Given the description of an element on the screen output the (x, y) to click on. 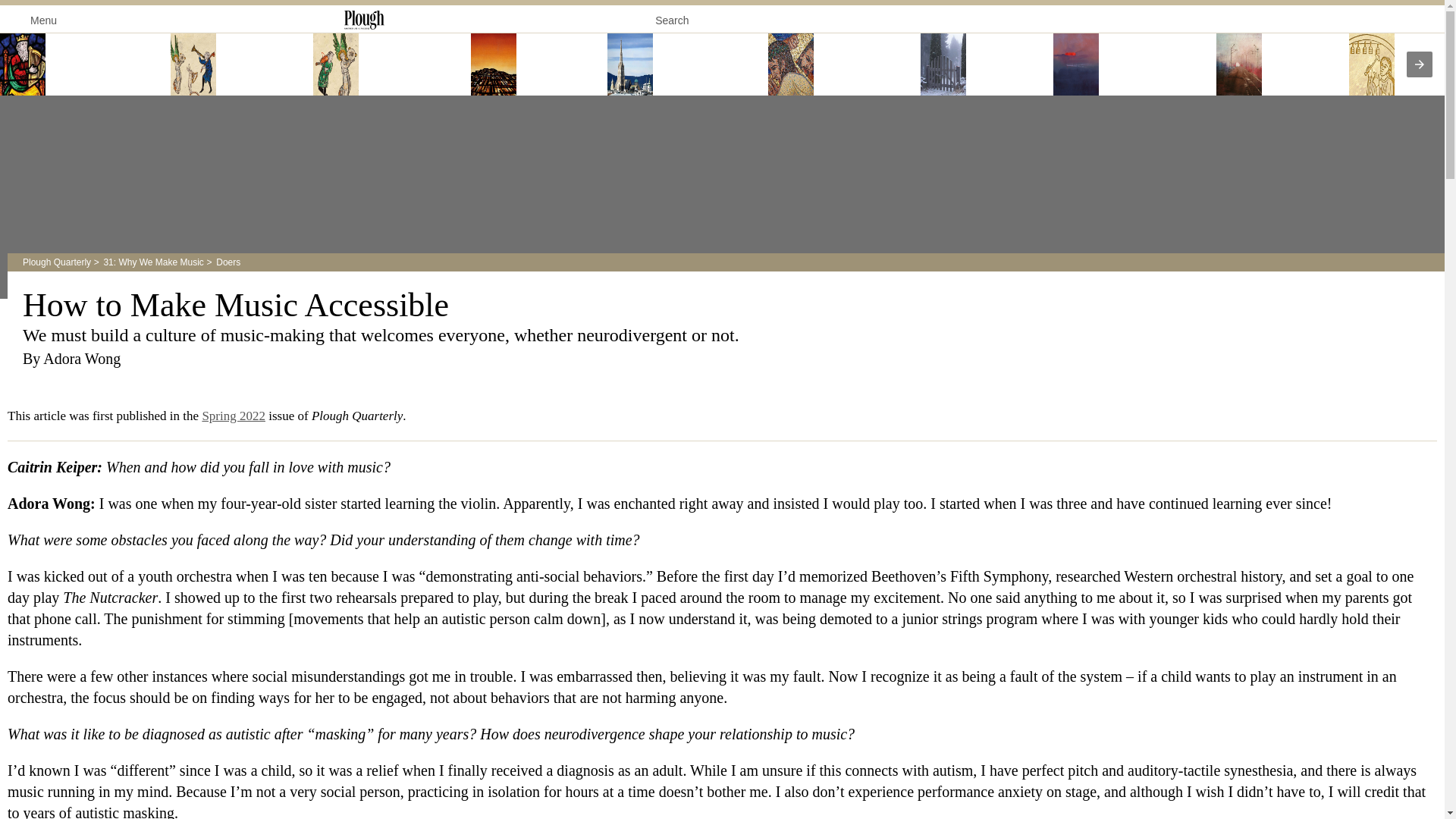
Menu (33, 19)
Next item in carousel (1419, 63)
Search (683, 17)
